Given the description of an element on the screen output the (x, y) to click on. 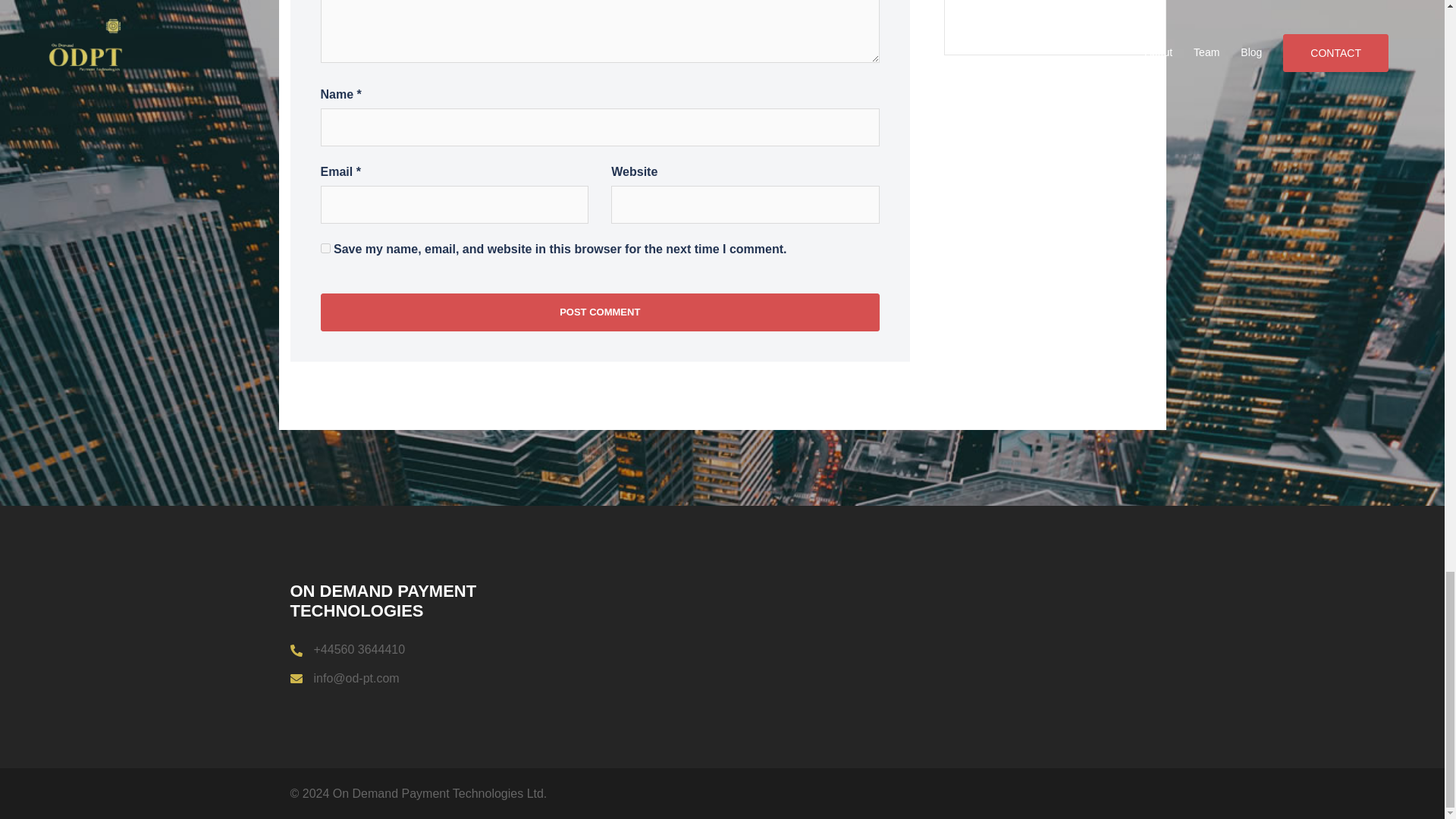
Post Comment (599, 312)
yes (325, 248)
Post Comment (599, 312)
